Given the description of an element on the screen output the (x, y) to click on. 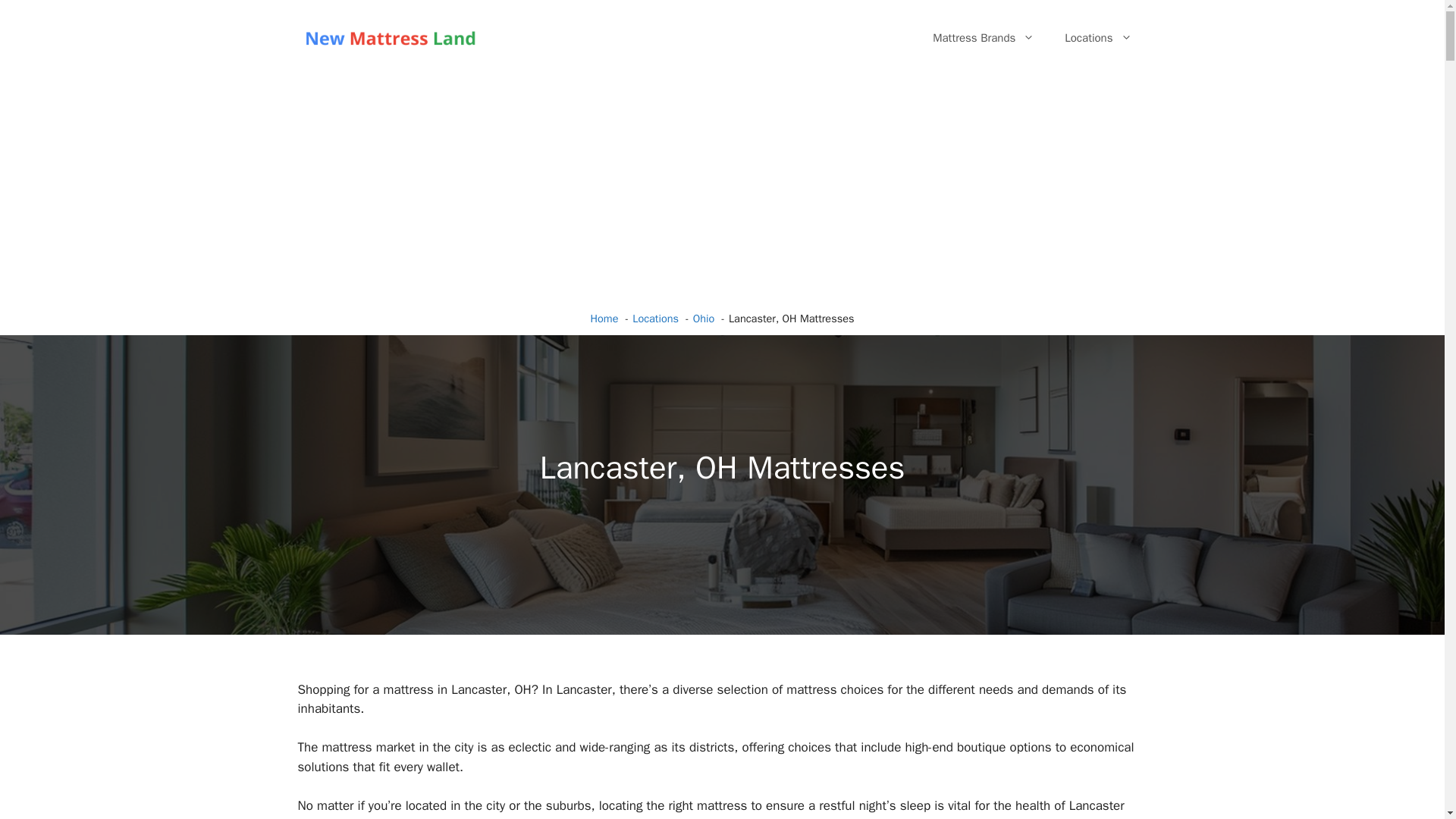
Mattress Brands (983, 37)
Locations (654, 318)
Ohio (703, 318)
Home (604, 318)
Locations (1098, 37)
